Given the description of an element on the screen output the (x, y) to click on. 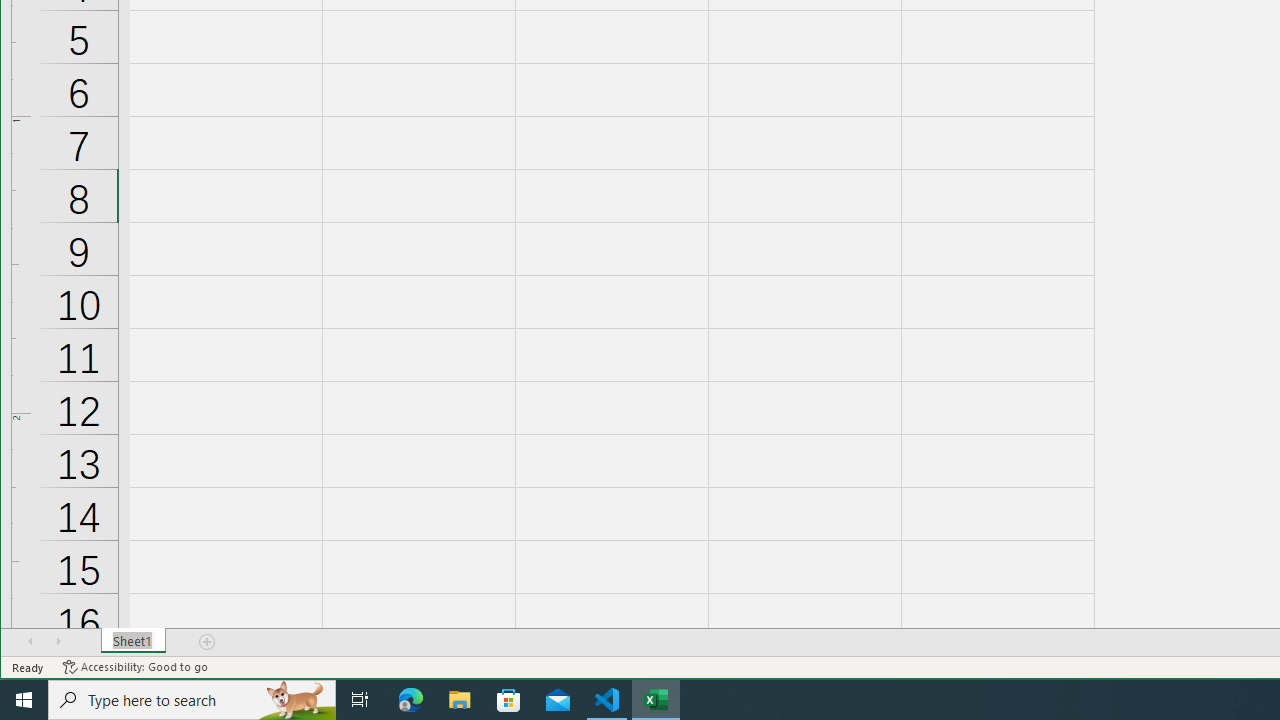
Excel - 1 running window (656, 699)
